Given the description of an element on the screen output the (x, y) to click on. 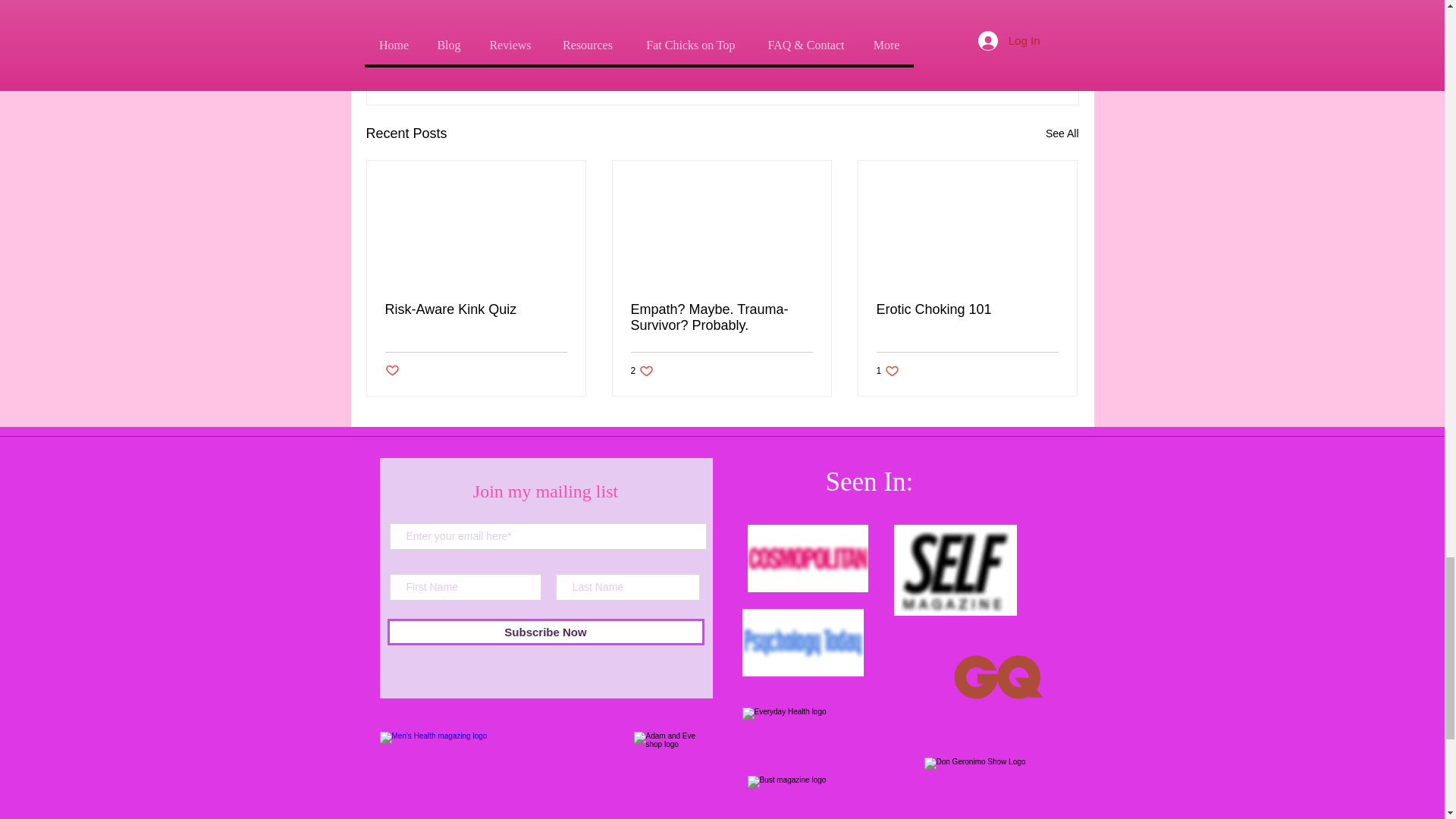
self-magazine-logo.jpg (954, 569)
